Given the description of an element on the screen output the (x, y) to click on. 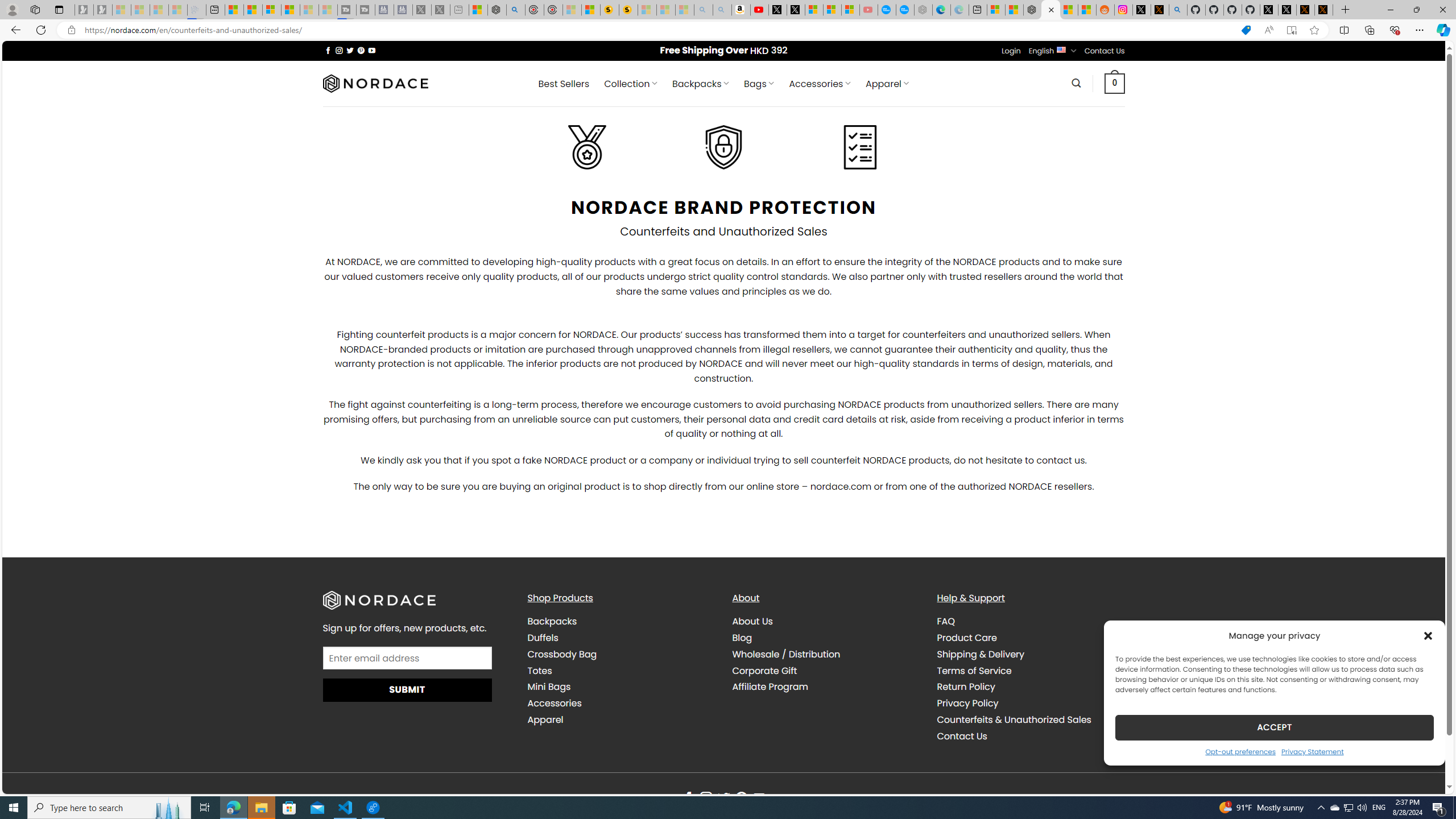
Product Care (966, 637)
Follow on Facebook (687, 798)
Follow on Twitter (723, 798)
Apparel (620, 719)
Affiliate Program (826, 686)
AutomationID: field_4_1 (406, 658)
Backpacks (551, 621)
Shanghai, China Weather trends | Microsoft Weather (1086, 9)
Streaming Coverage | T3 - Sleeping (347, 9)
